Given the description of an element on the screen output the (x, y) to click on. 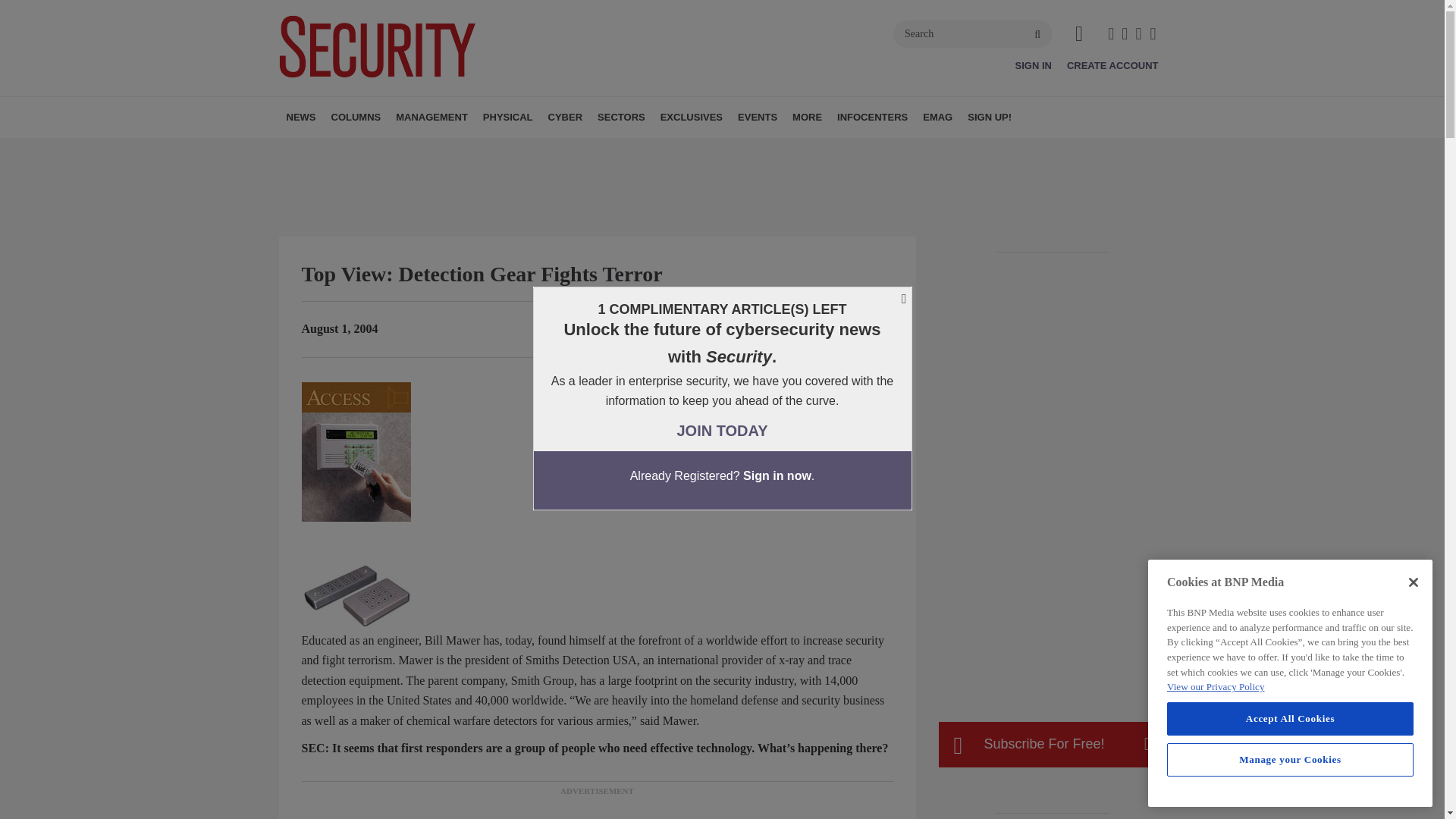
Search (972, 33)
Search (972, 33)
